Given the description of an element on the screen output the (x, y) to click on. 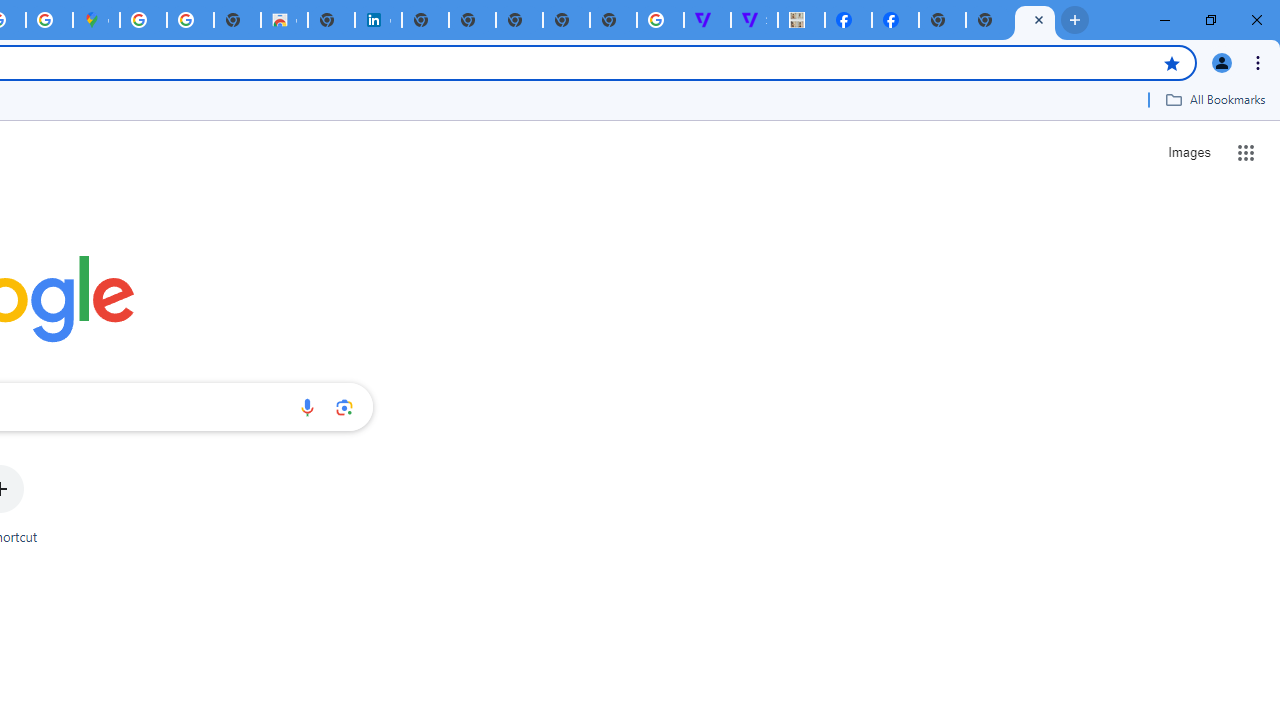
Miley Cyrus | Facebook (848, 20)
Chrome Web Store (284, 20)
New Tab (1035, 20)
